Given the description of an element on the screen output the (x, y) to click on. 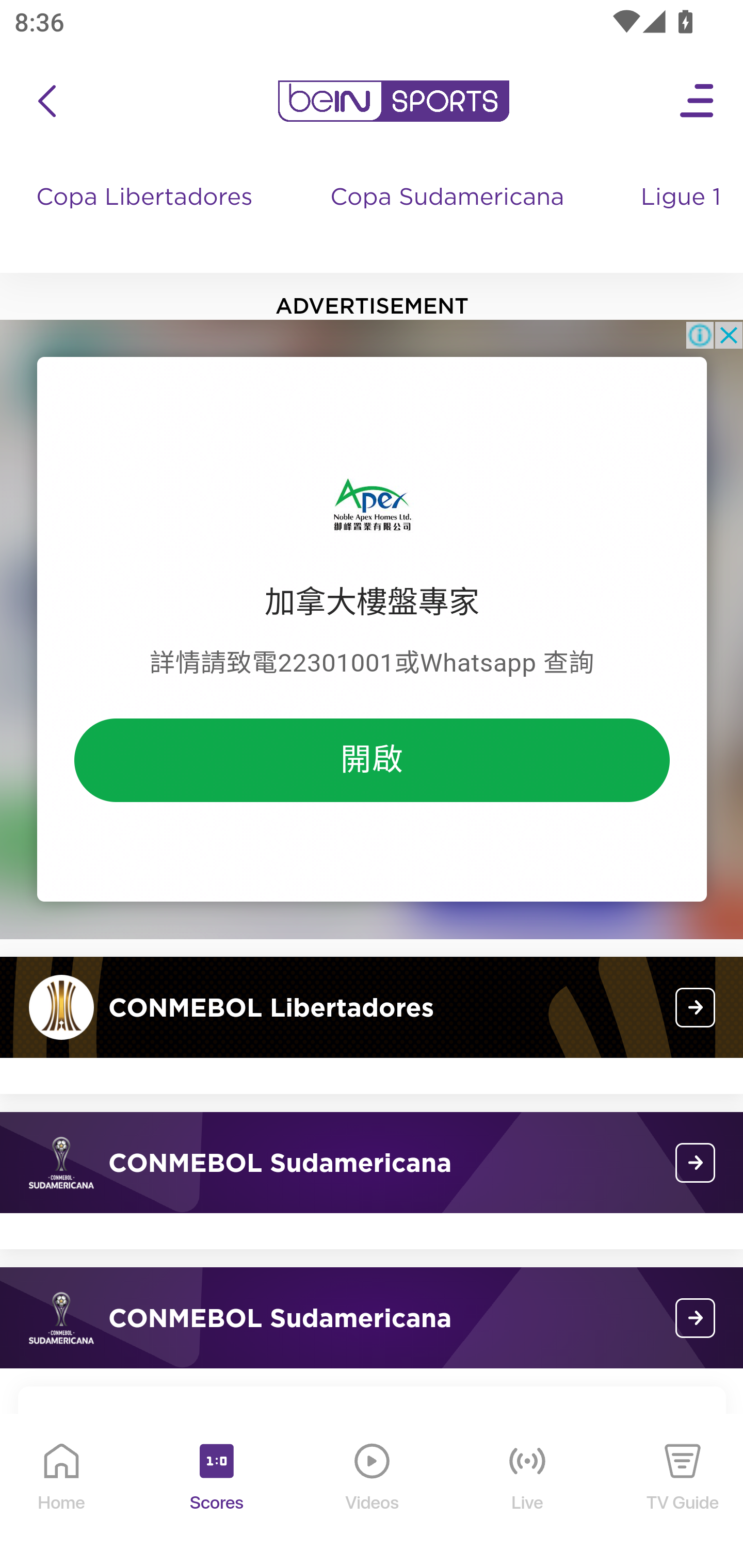
en-us?platform=mobile_android bein logo (392, 101)
icon back (46, 101)
Open Menu Icon (697, 101)
Copa Libertadores (146, 216)
Copa Sudamericana (448, 216)
Ligue 1 (682, 216)
Default (371, 501)
加拿大樓盤專家 (371, 601)
詳情請致電22301001或Whatsapp 查詢 (371, 662)
開啟 (371, 759)
conmebol-libertadores?platform=mobile_android (695, 1007)
Home Home Icon Home (61, 1491)
Scores Scores Icon Scores (216, 1491)
Videos Videos Icon Videos (372, 1491)
TV Guide TV Guide Icon TV Guide (682, 1491)
